Given the description of an element on the screen output the (x, y) to click on. 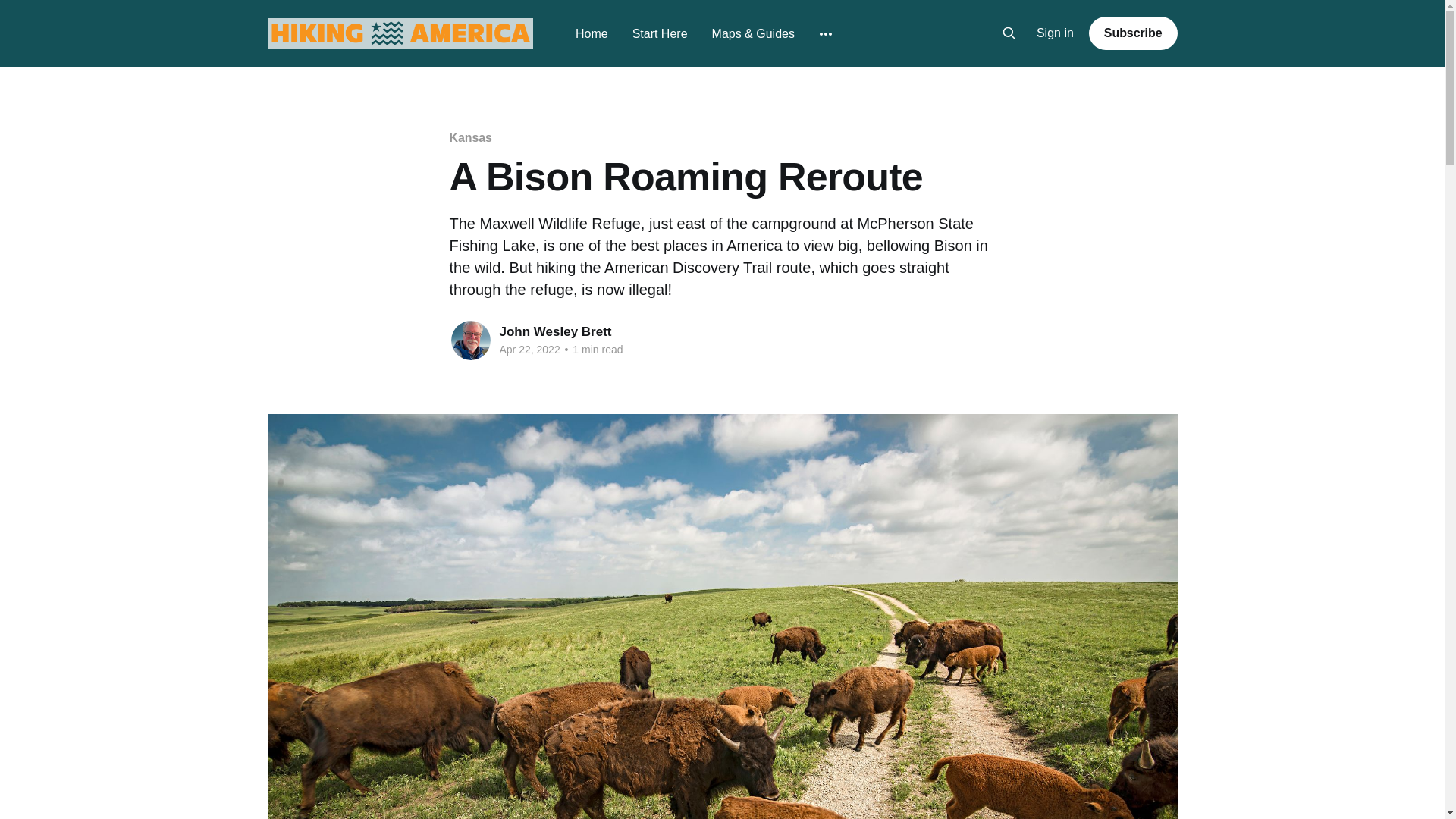
Kansas (470, 137)
Start Here (659, 33)
Home (591, 33)
John Wesley Brett (555, 331)
Subscribe (1133, 32)
Sign in (1055, 33)
